Given the description of an element on the screen output the (x, y) to click on. 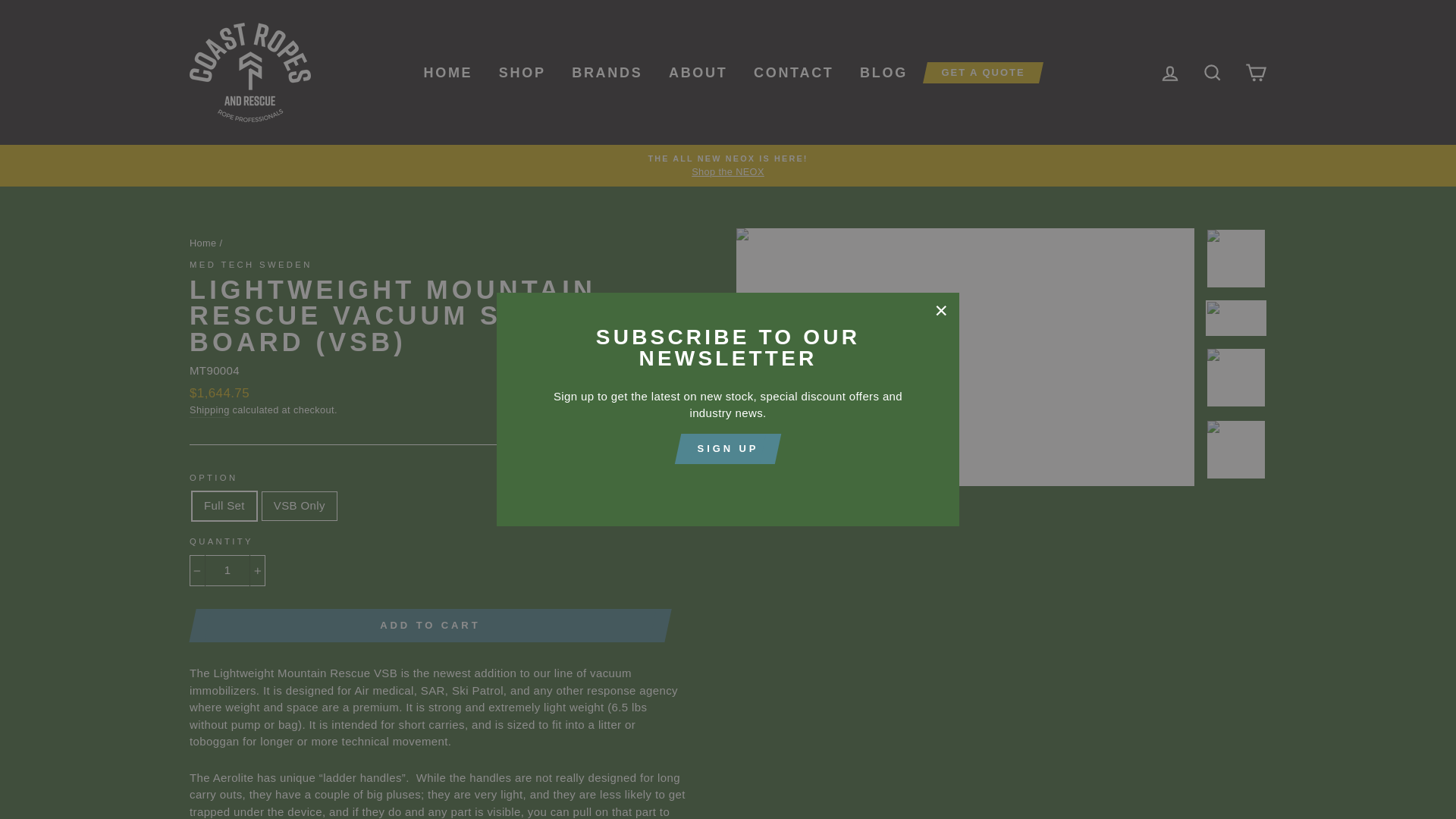
1 (226, 570)
Back to the frontpage (202, 242)
